Given the description of an element on the screen output the (x, y) to click on. 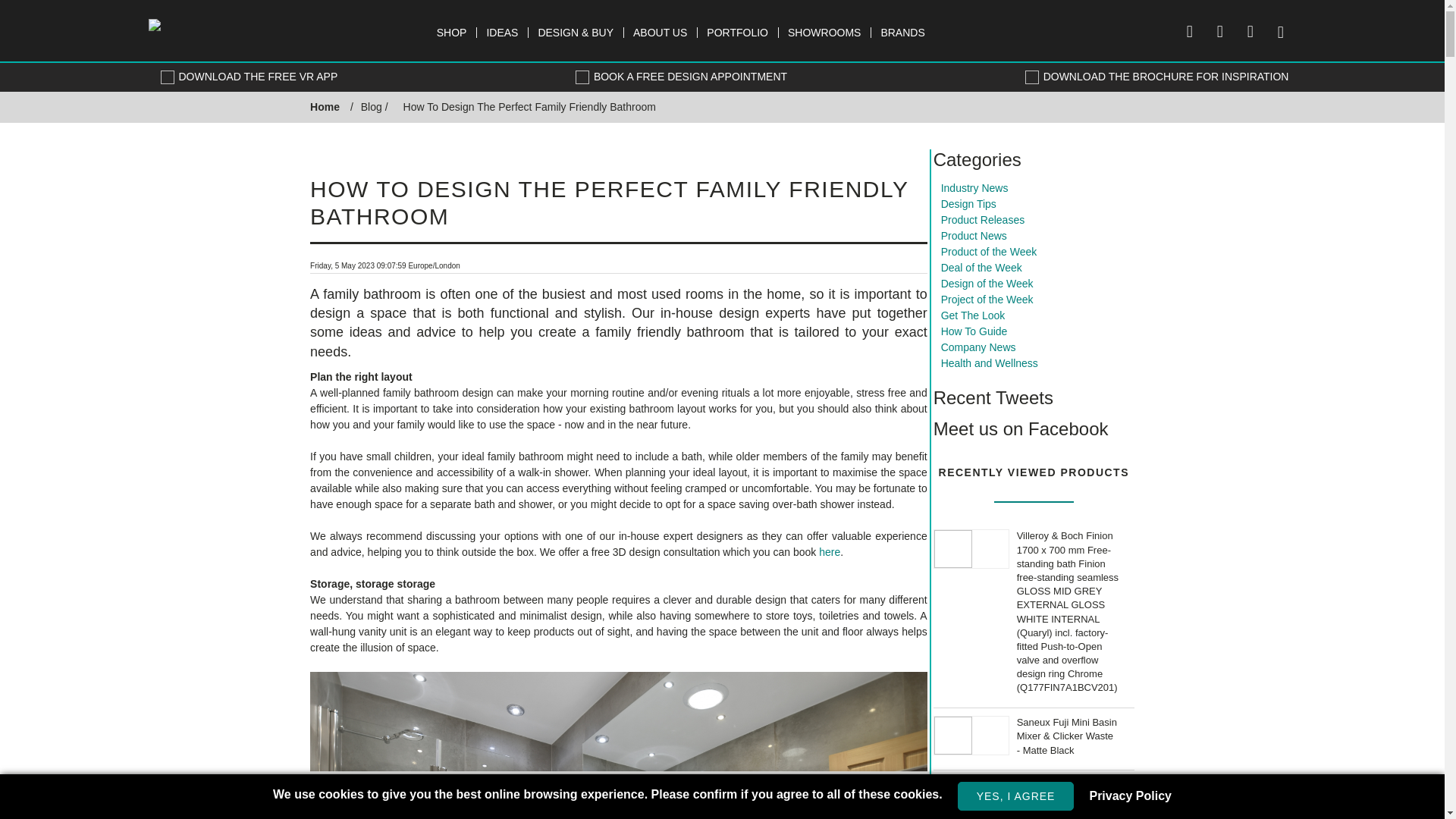
SHOP (451, 32)
Return to Blog (371, 106)
Go to Home Page (324, 106)
